Given the description of an element on the screen output the (x, y) to click on. 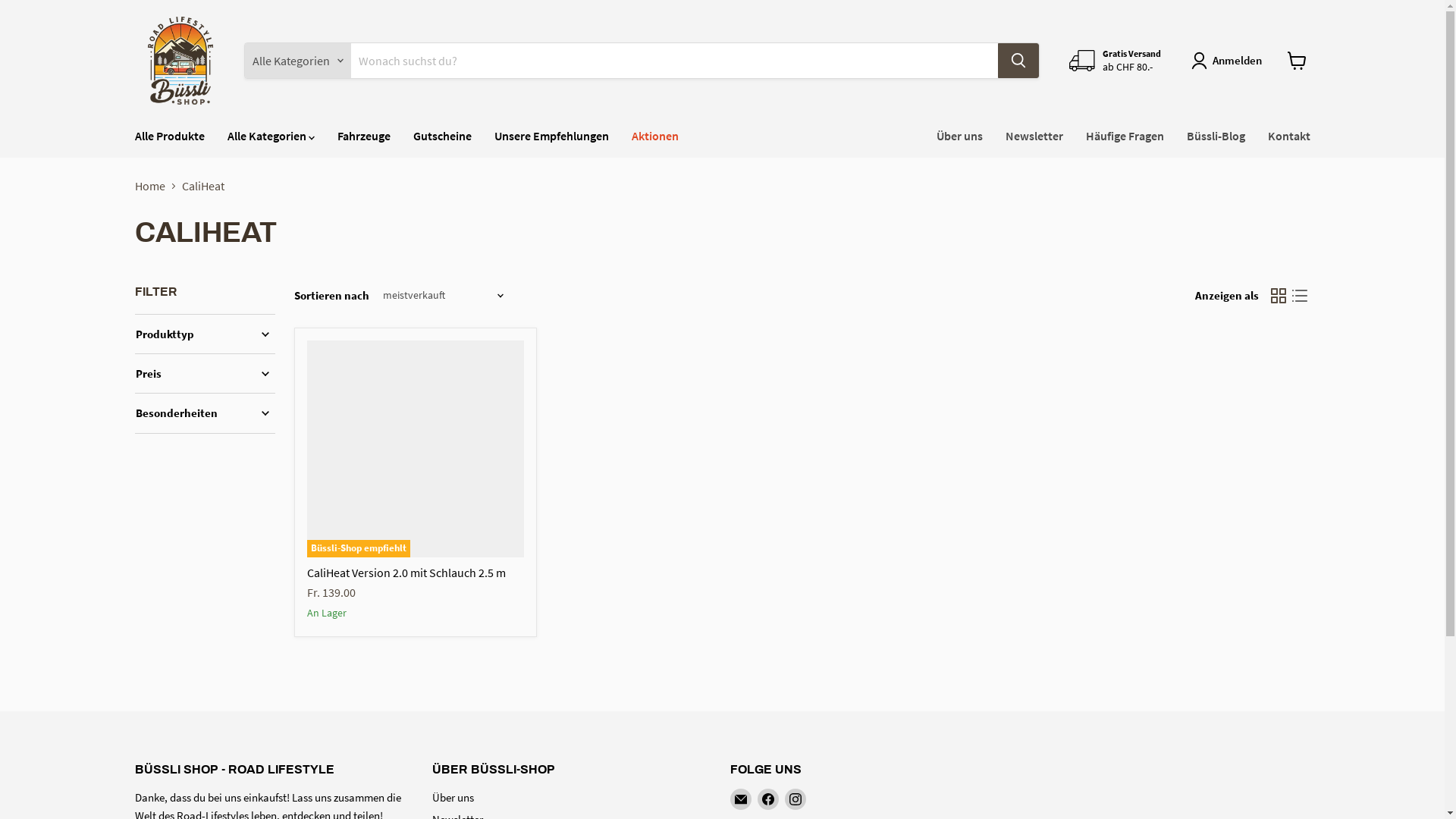
Warenkorb anzeigen Element type: text (1297, 60)
Alle Produkte Element type: text (168, 135)
Home Element type: text (149, 185)
Gutscheine Element type: text (442, 135)
Fahrzeuge Element type: text (363, 135)
Kontakt Element type: text (1288, 135)
Besonderheiten Element type: text (204, 412)
Newsletter Element type: text (1033, 135)
Gratis Versand
ab CHF 80.- Element type: text (1115, 60)
Produkttyp Element type: text (204, 333)
Finden Sie uns auf Facebook Element type: text (767, 798)
Finden Sie uns auf E-Mail Element type: text (739, 798)
Unsere Empfehlungen Element type: text (550, 135)
CaliHeat Version 2.0 mit Schlauch 2.5 m Element type: text (405, 572)
Anmelden Element type: text (1229, 60)
Finden Sie uns auf Instagram Element type: text (794, 798)
Aktionen Element type: text (655, 135)
Preis Element type: text (204, 373)
